Given the description of an element on the screen output the (x, y) to click on. 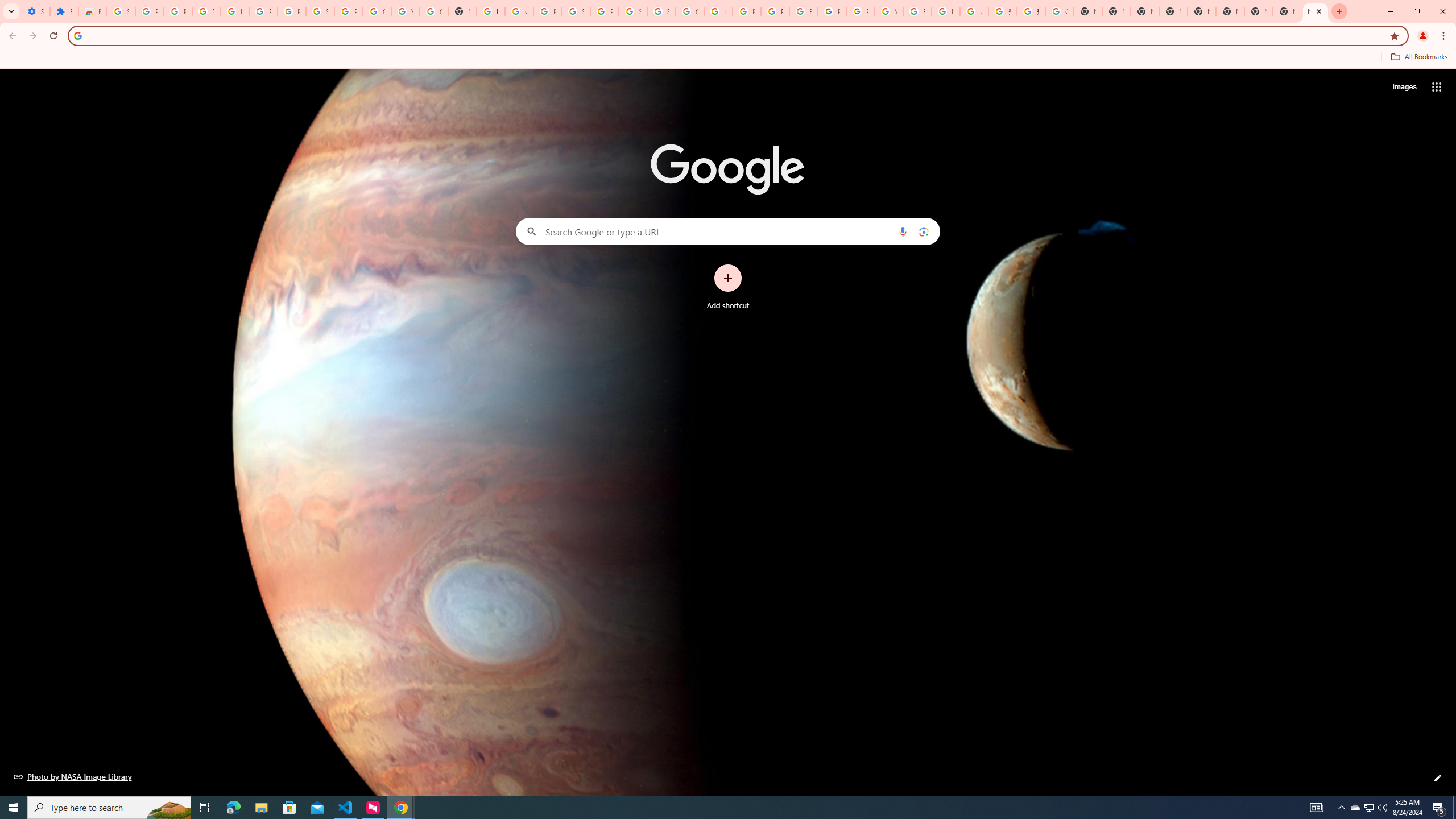
Google Account (377, 11)
Reviews: Helix Fruit Jump Arcade Game (92, 11)
Search Google or type a URL (727, 230)
Search by image (922, 230)
Minimize (1390, 11)
YouTube (405, 11)
Reload (52, 35)
Back (10, 35)
System (6, 6)
